Given the description of an element on the screen output the (x, y) to click on. 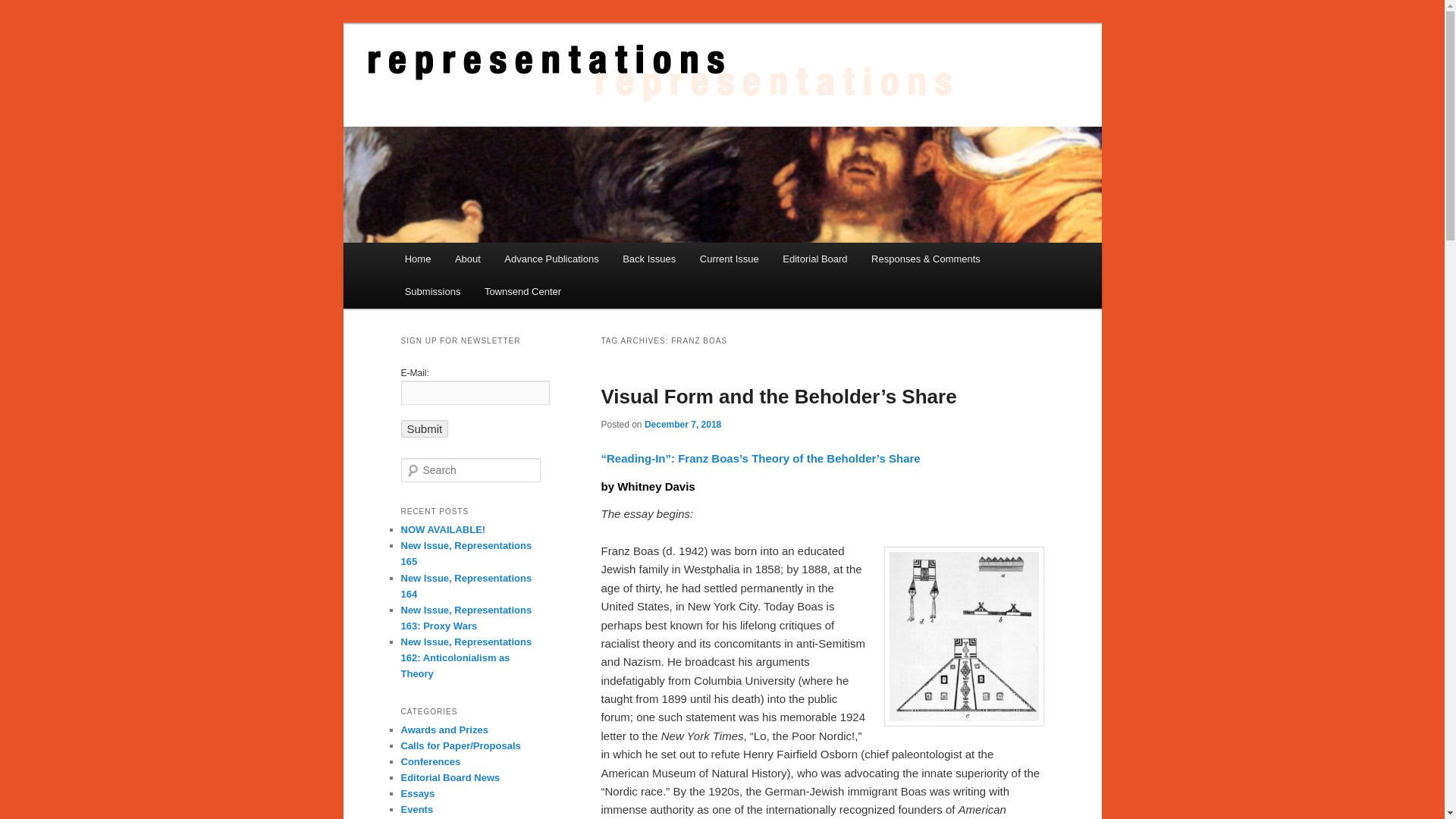
Search (21, 11)
Current Issue (729, 258)
Townsend Center (522, 291)
Editorial Board News (449, 777)
Submit (424, 428)
New Issue, Representations 165 (465, 553)
Back Issues (648, 258)
Submit (424, 428)
Awards and Prizes (443, 729)
New Issue, Representations 162: Anticolonialism as Theory (465, 657)
